Given the description of an element on the screen output the (x, y) to click on. 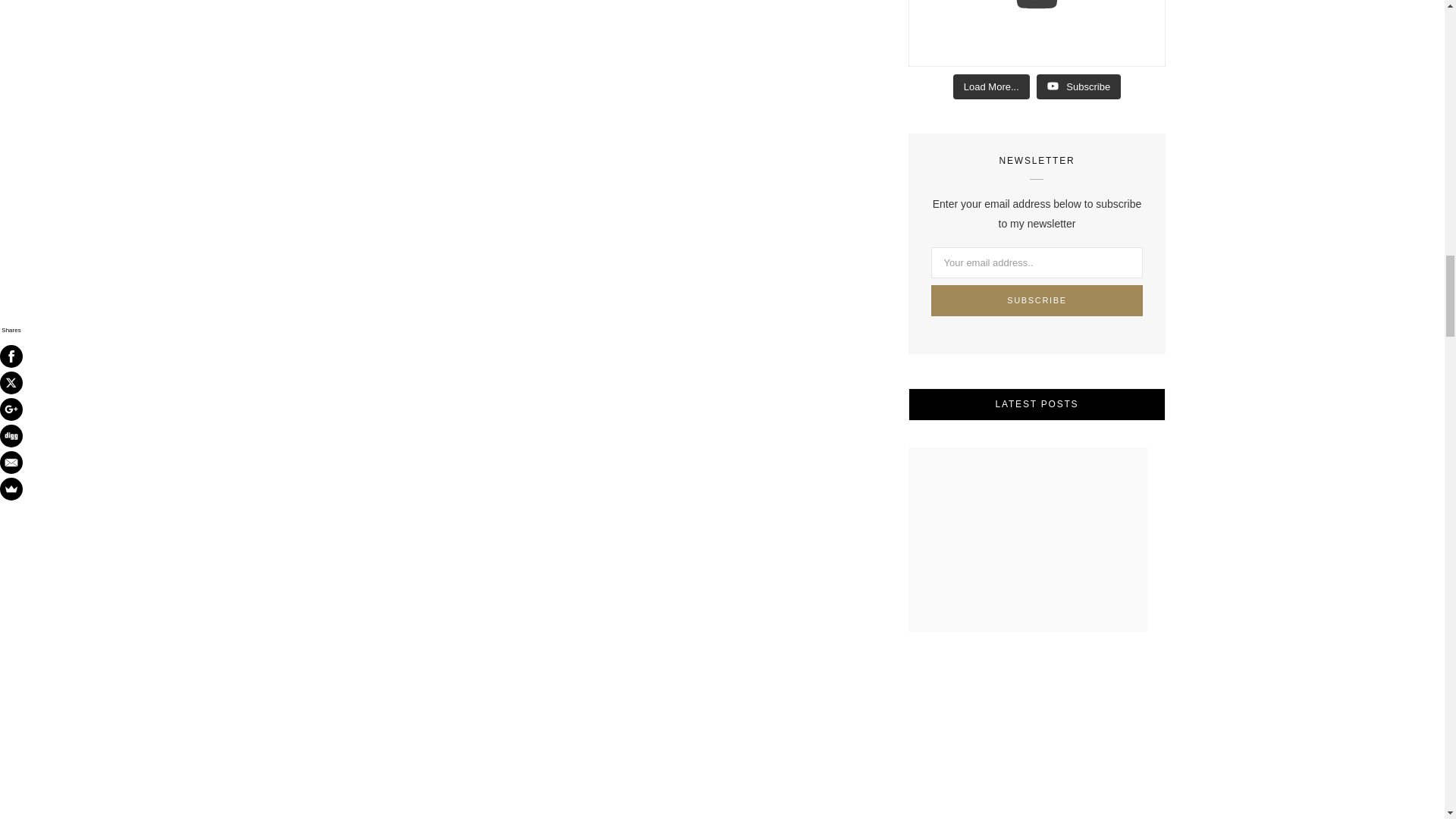
Subscribe (1036, 300)
